Given the description of an element on the screen output the (x, y) to click on. 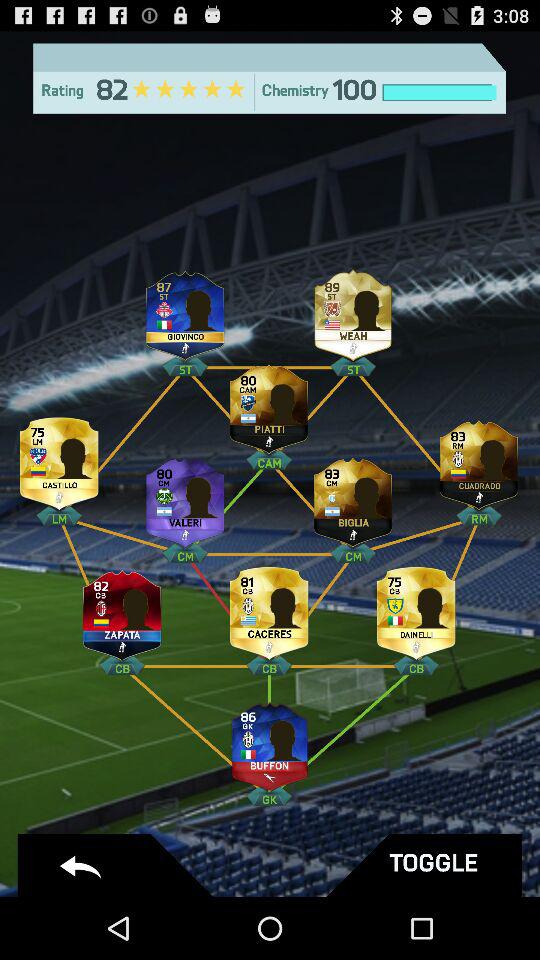
choose caceres (269, 609)
